Given the description of an element on the screen output the (x, y) to click on. 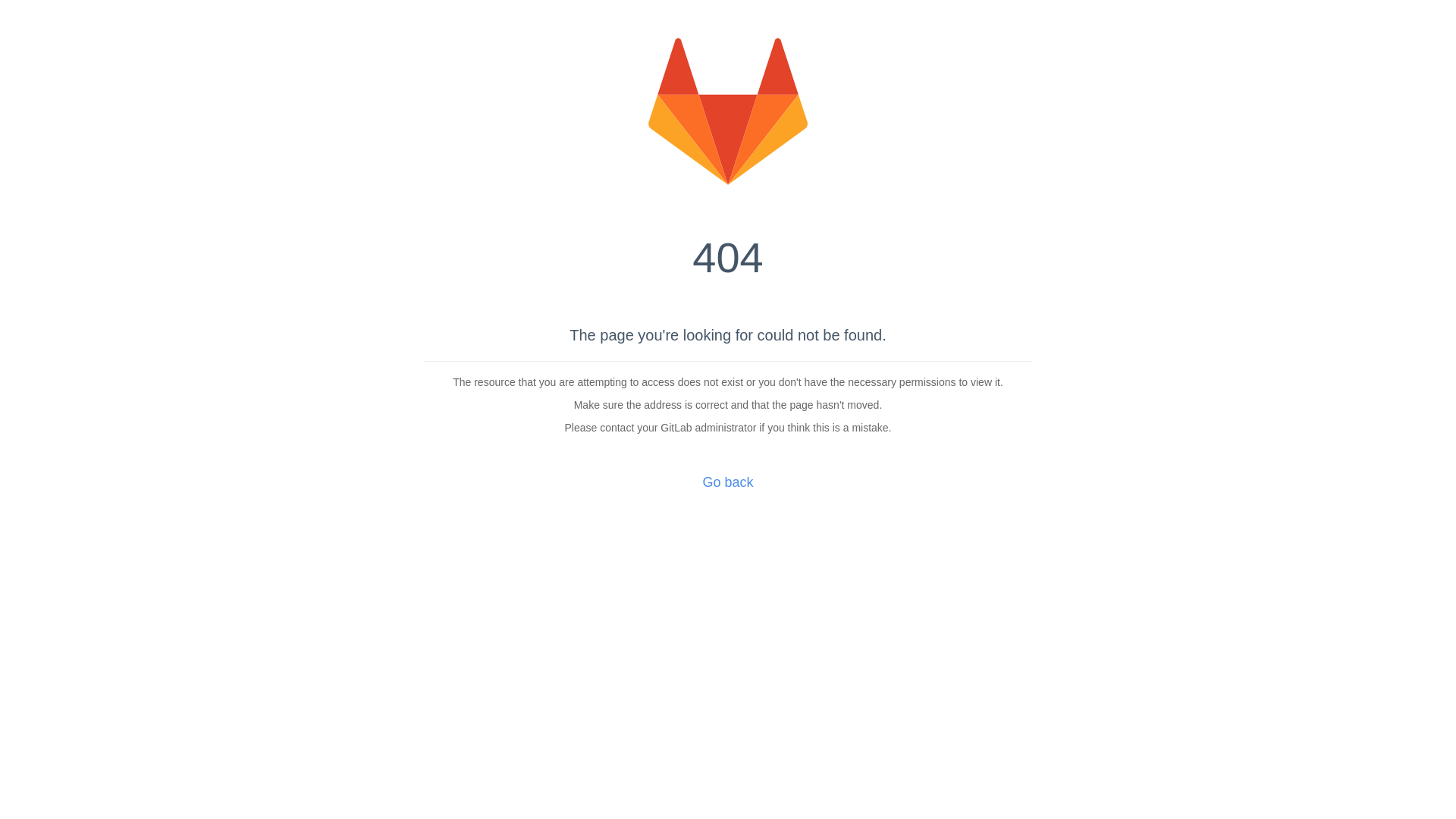
Go back Element type: text (727, 481)
